Given the description of an element on the screen output the (x, y) to click on. 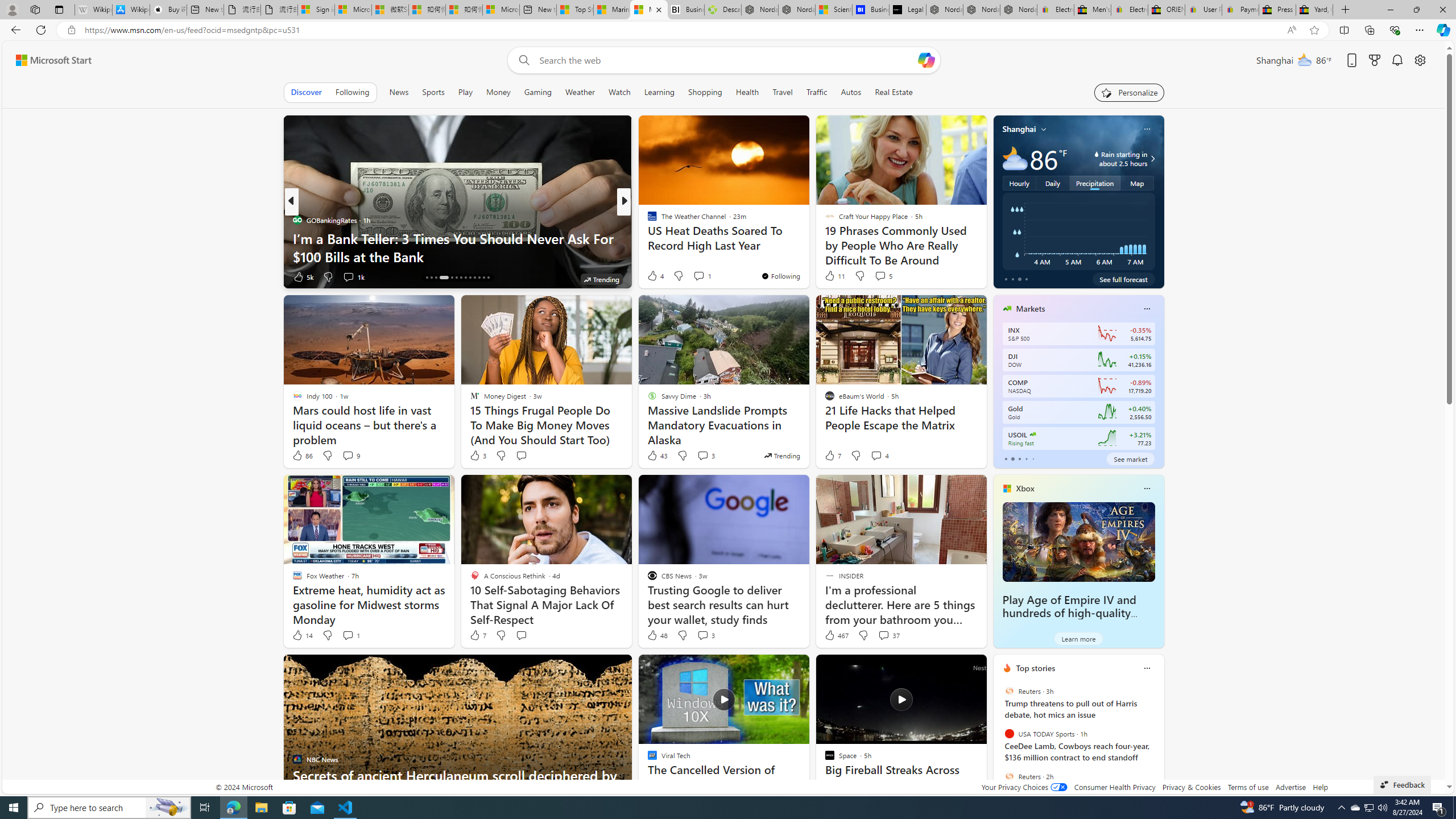
Mostly cloudy (1014, 158)
4 AM 5 AM 6 AM 7 AM (1077, 231)
See market (1130, 459)
next (1158, 741)
tab-0 (1005, 458)
You're following MSNBC (949, 279)
Weather (580, 92)
Yard, Garden & Outdoor Living (1314, 9)
View comments 2 Comment (698, 276)
Rain starting in about 2.5 hours (1150, 158)
